Given the description of an element on the screen output the (x, y) to click on. 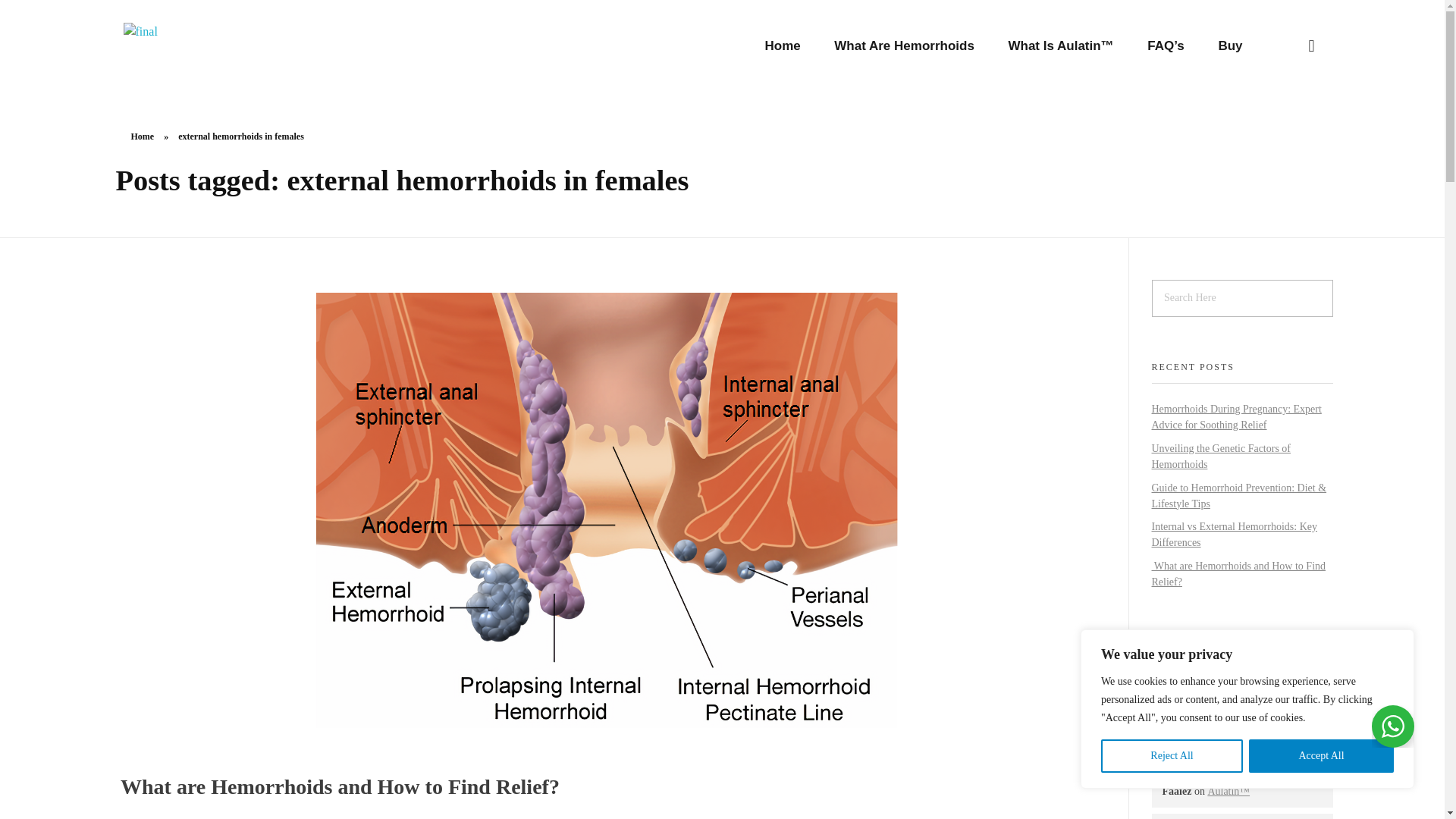
Buy (1221, 46)
Search (42, 13)
Internal vs External Hemorrhoids: Key Differences (1234, 533)
Aulatin (153, 77)
 What are Hemorrhoids and How to Find Relief? (337, 786)
Aulatin (153, 77)
Home (790, 46)
Reject All (1171, 756)
Unveiling the Genetic Factors of Hemorrhoids (1220, 456)
What Are Hemorrhoids (903, 46)
Home (142, 136)
Accept All (1321, 756)
HEMORRHOIDS (1189, 681)
Aulatin (195, 45)
